Given the description of an element on the screen output the (x, y) to click on. 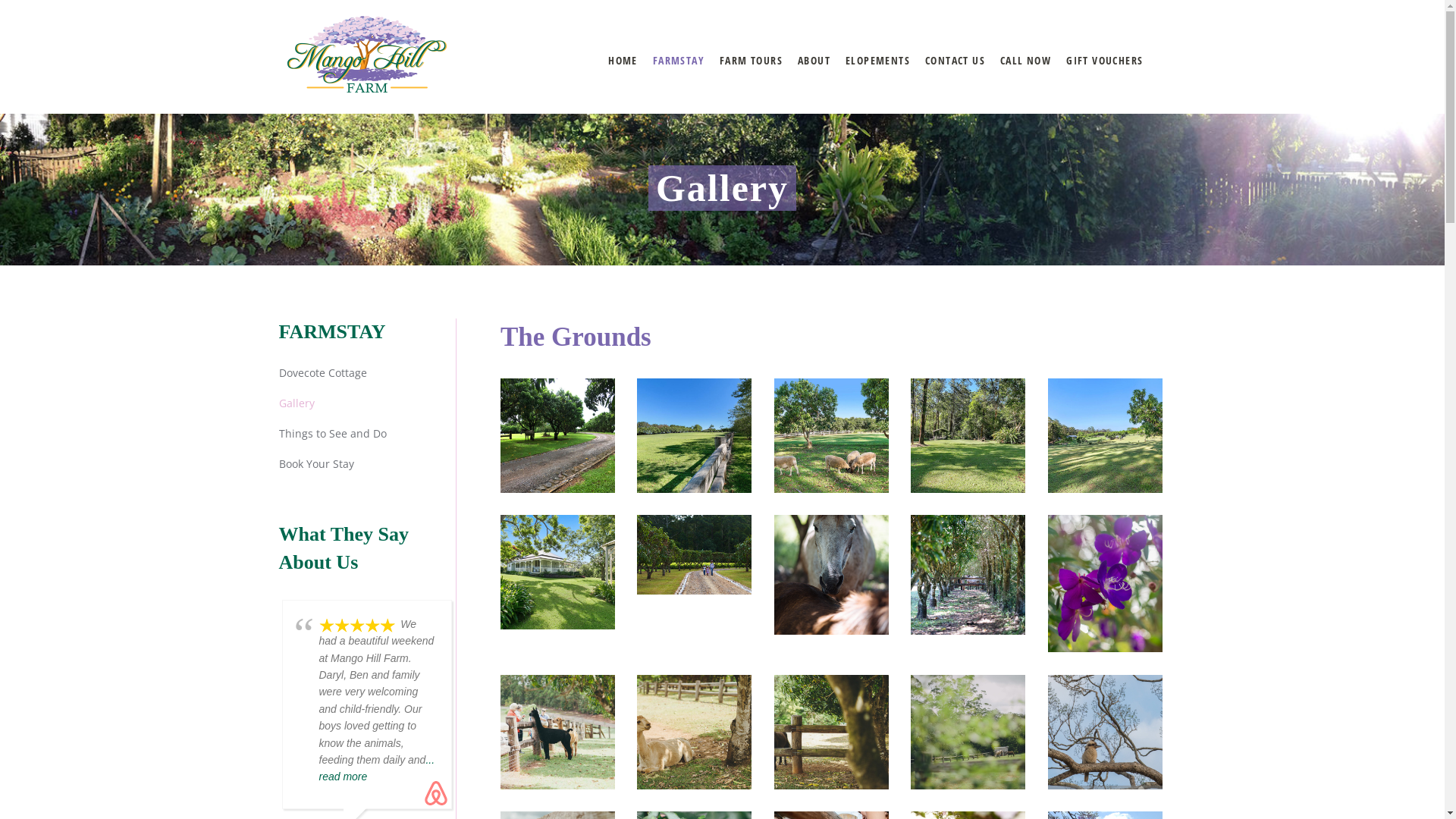
Dovecote Cottage Element type: text (323, 372)
Sign up Element type: text (765, 437)
HOME Element type: text (622, 60)
Book Your Stay Element type: text (316, 463)
Gallery Element type: text (296, 402)
FARM TOURS Element type: text (750, 60)
CONTACT US Element type: text (955, 60)
CALL NOW Element type: text (1025, 60)
Mango Hill Farm Element type: hover (366, 53)
Things to See and Do Element type: text (332, 433)
ABOUT Element type: text (813, 60)
GIFT VOUCHERS Element type: text (1104, 60)
ELOPEMENTS Element type: text (877, 60)
... read more Element type: text (376, 767)
FARMSTAY Element type: text (678, 60)
